Given the description of an element on the screen output the (x, y) to click on. 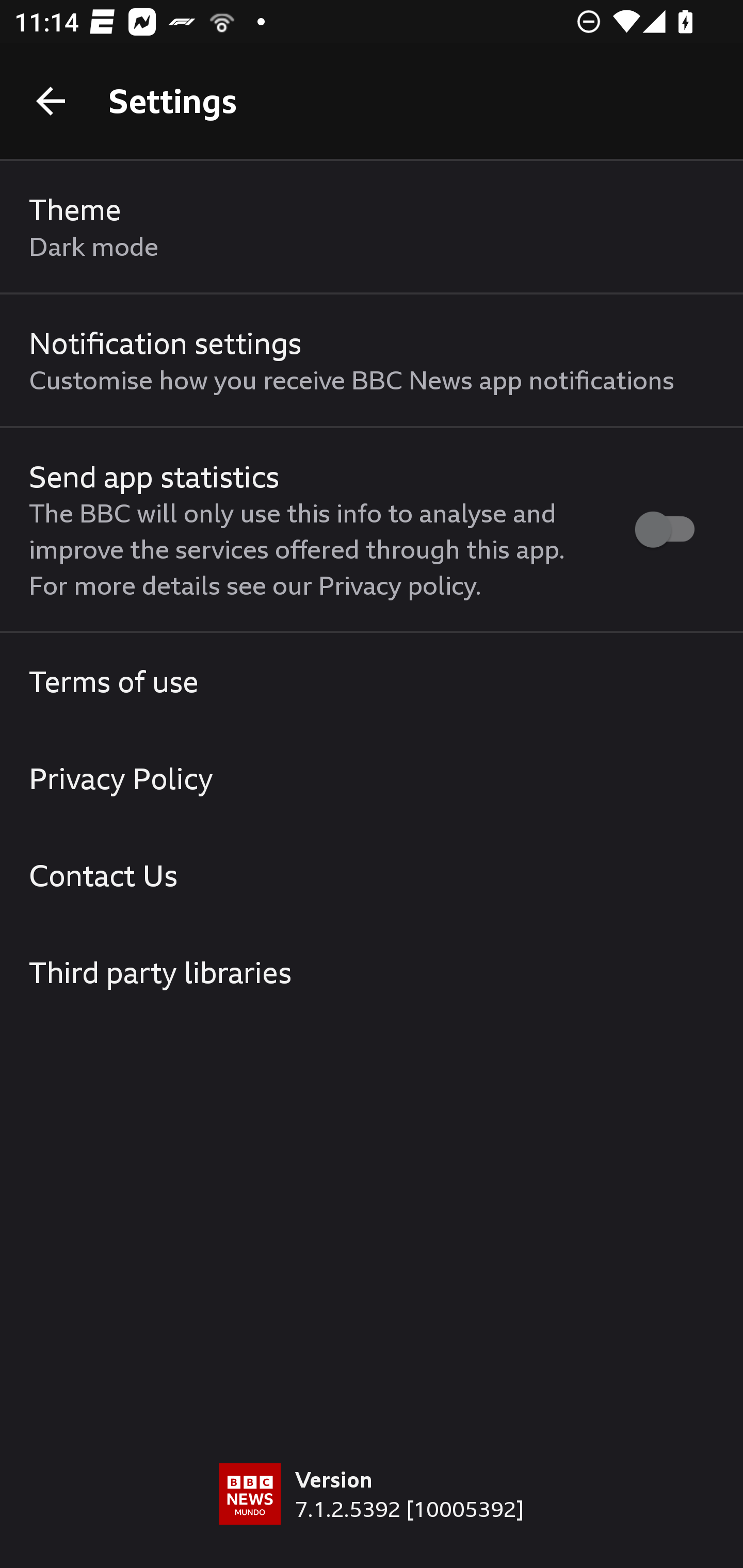
Back (50, 101)
Theme Dark mode (371, 227)
Terms of use (371, 681)
Privacy Policy (371, 777)
Contact Us (371, 874)
Third party libraries (371, 971)
Version 7.1.2.5392 [10005392] (371, 1515)
